Given the description of an element on the screen output the (x, y) to click on. 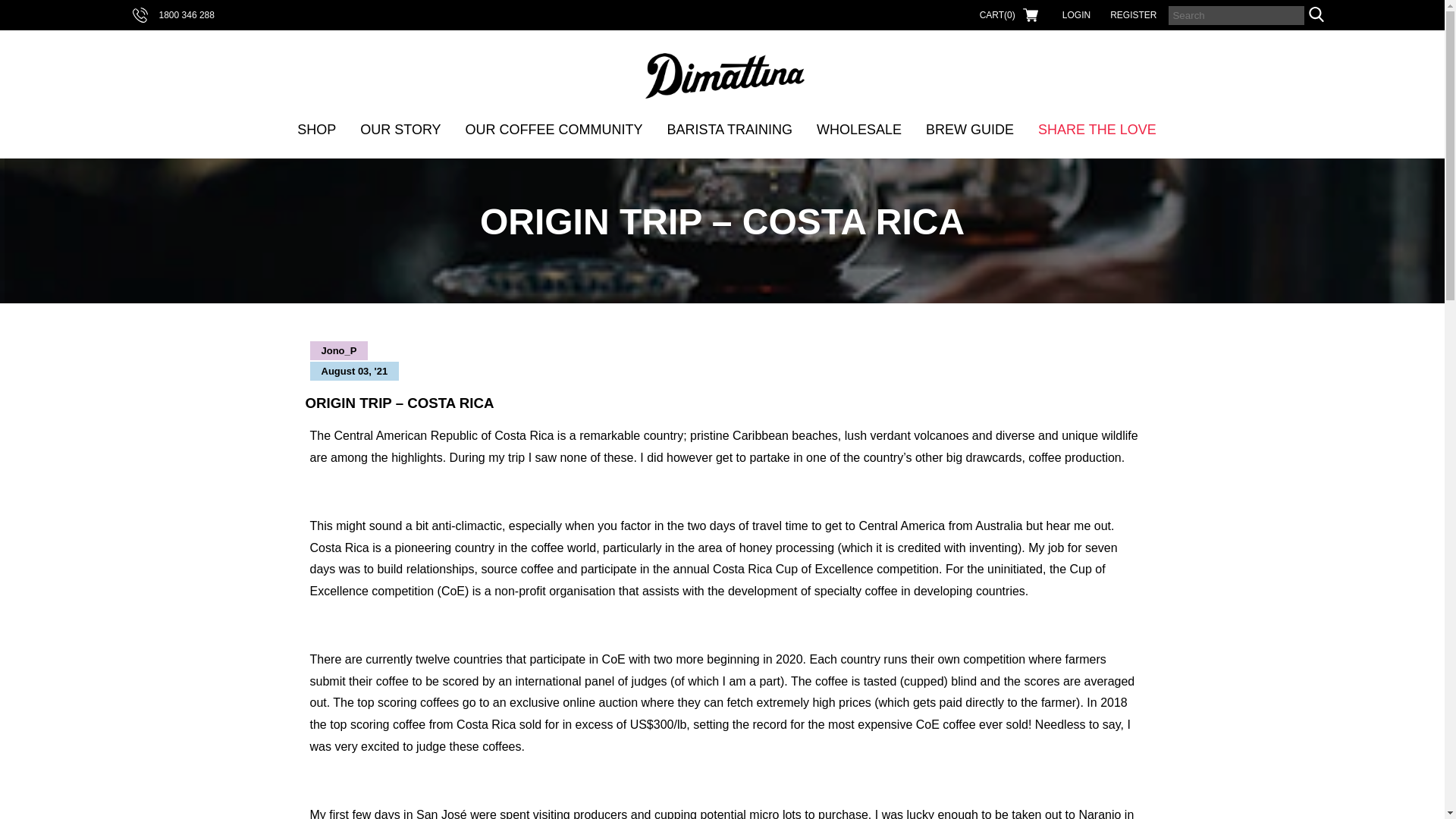
OUR STORY (400, 129)
Submit (21, 7)
REGISTER (1132, 14)
LOGIN (1075, 14)
BARISTA TRAINING (729, 129)
SHOP (316, 129)
SHARE THE LOVE (1096, 129)
BREW GUIDE (970, 129)
WHOLESALE (858, 129)
1800 346 288 (172, 15)
OUR COFFEE COMMUNITY (554, 129)
